Given the description of an element on the screen output the (x, y) to click on. 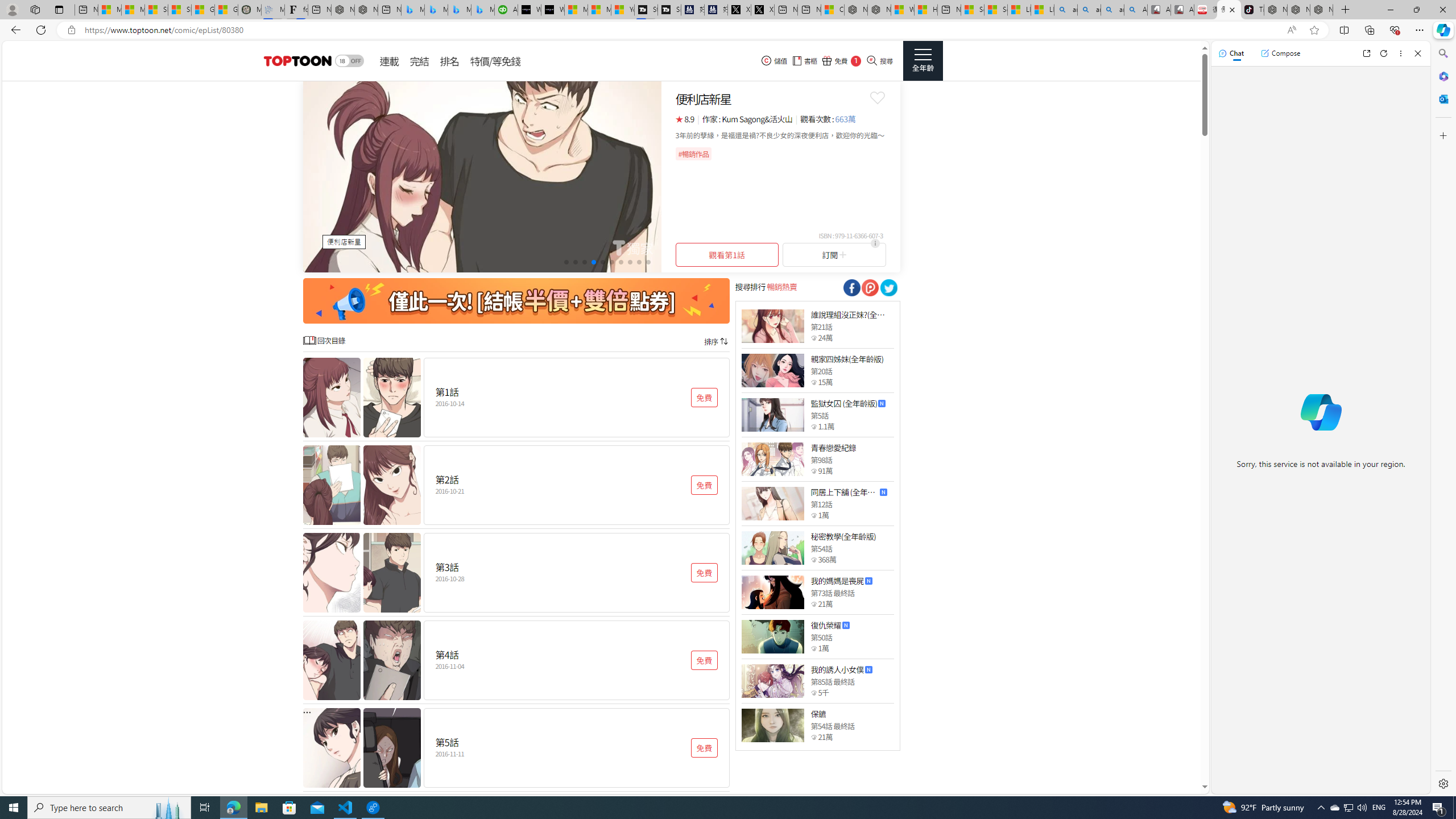
Class: swiper-slide swiper-slide-duplicate (481, 176)
Personal Profile (12, 9)
Close tab (1232, 9)
Manatee Mortality Statistics | FWC (249, 9)
Class: socialShare (887, 287)
TikTok (1252, 9)
X (761, 9)
